Given the description of an element on the screen output the (x, y) to click on. 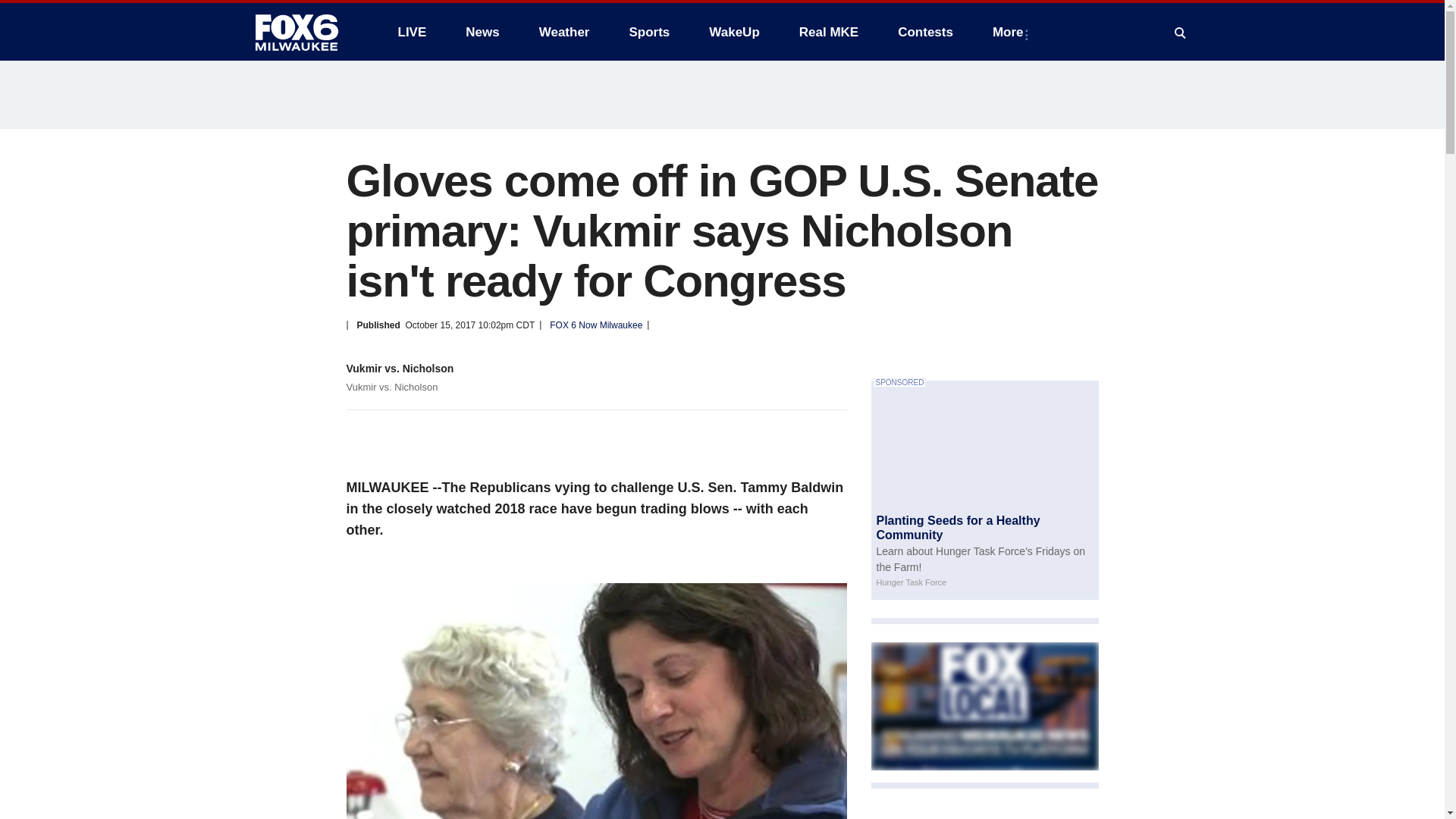
Contests (925, 32)
More (1010, 32)
Weather (564, 32)
Sports (648, 32)
News (481, 32)
WakeUp (734, 32)
Real MKE (828, 32)
LIVE (411, 32)
